Given the description of an element on the screen output the (x, y) to click on. 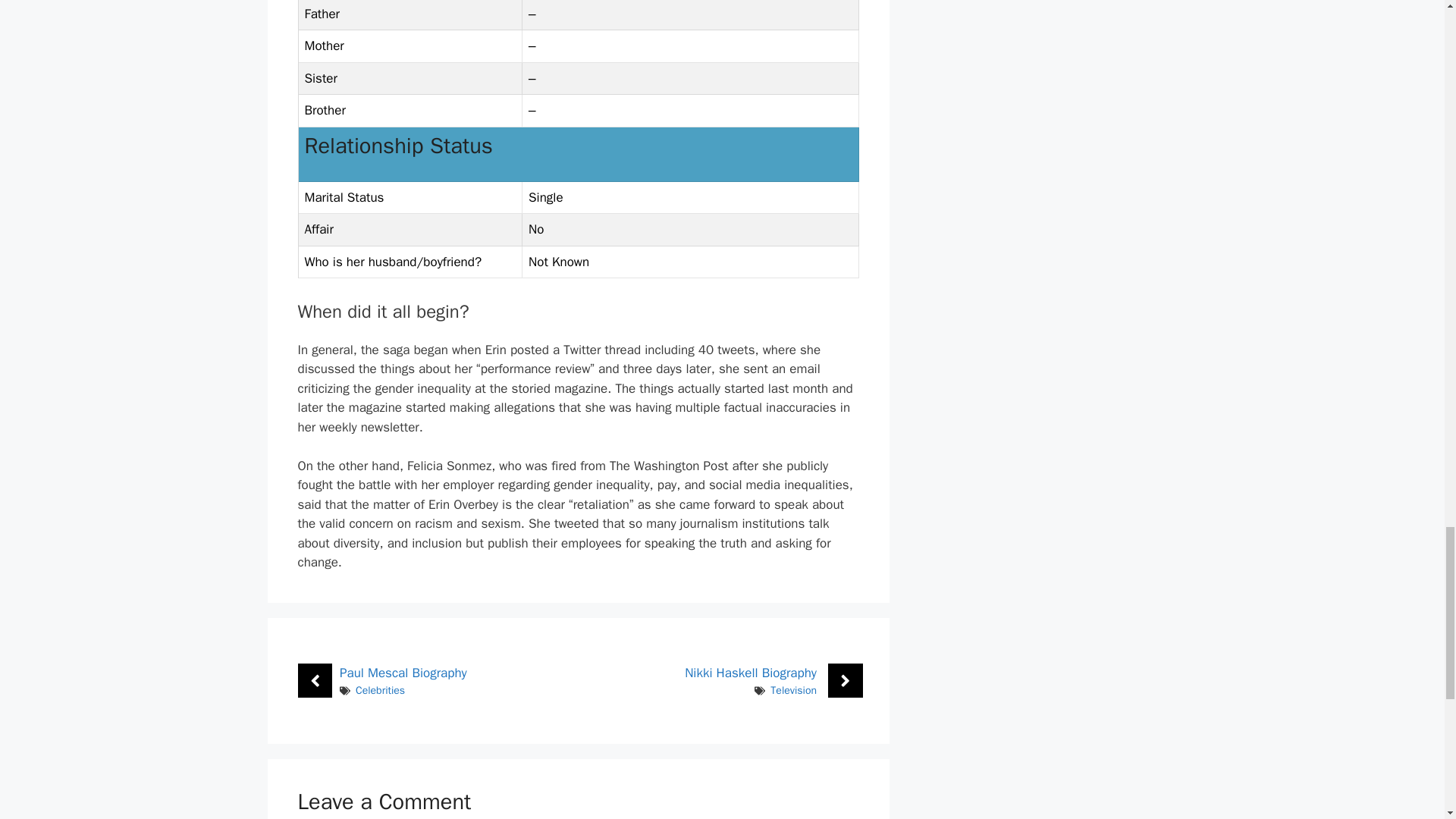
Paul Mescal Biography (403, 672)
Celebrities (379, 689)
Television (793, 689)
Nikki Haskell Biography (750, 672)
